Given the description of an element on the screen output the (x, y) to click on. 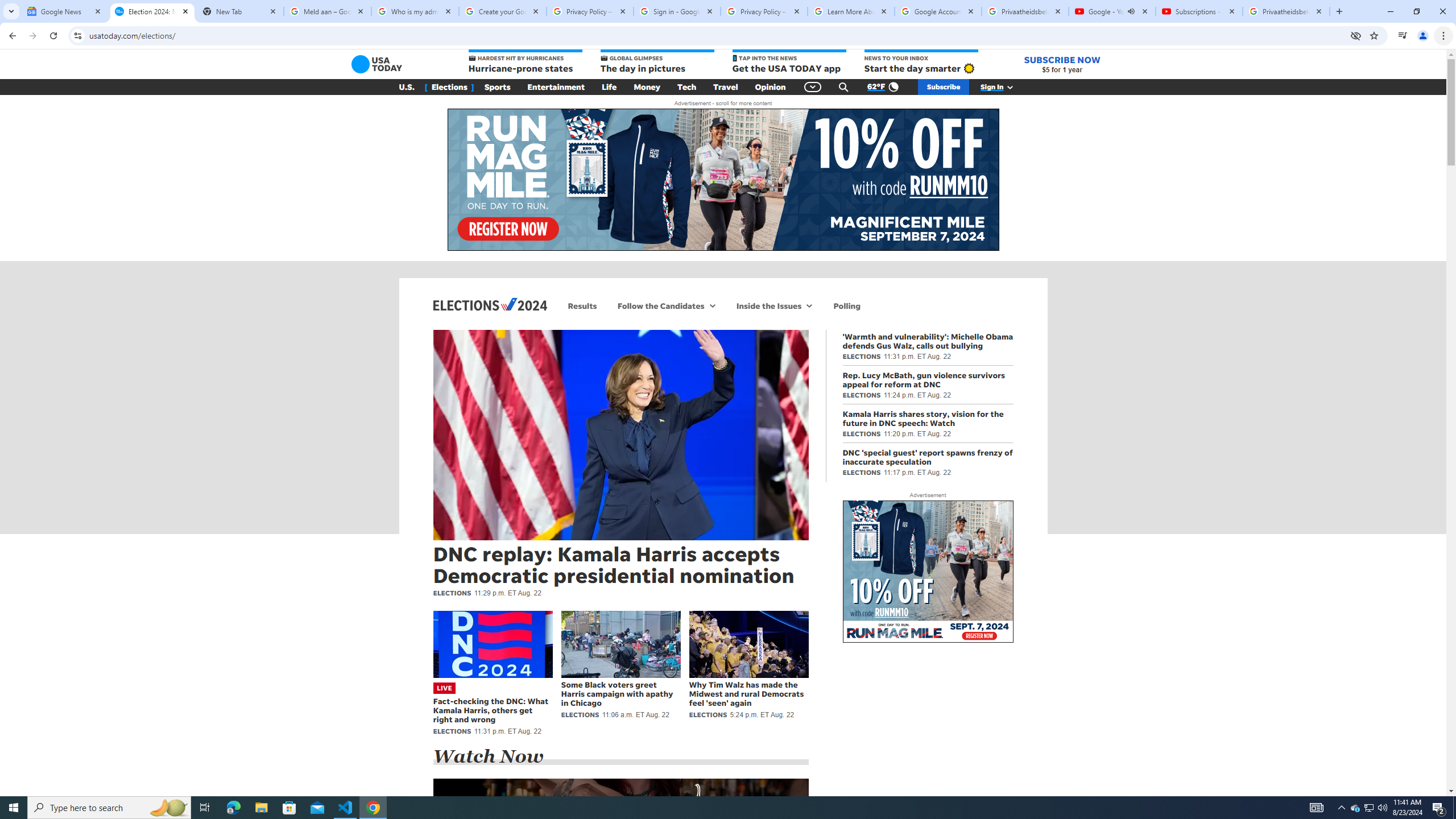
More Follow the Candidates navigation (712, 305)
New Tab (239, 11)
Money (646, 87)
AutomationID: aw0 (928, 572)
Travel (725, 87)
Results (581, 305)
Sports (497, 87)
